Given the description of an element on the screen output the (x, y) to click on. 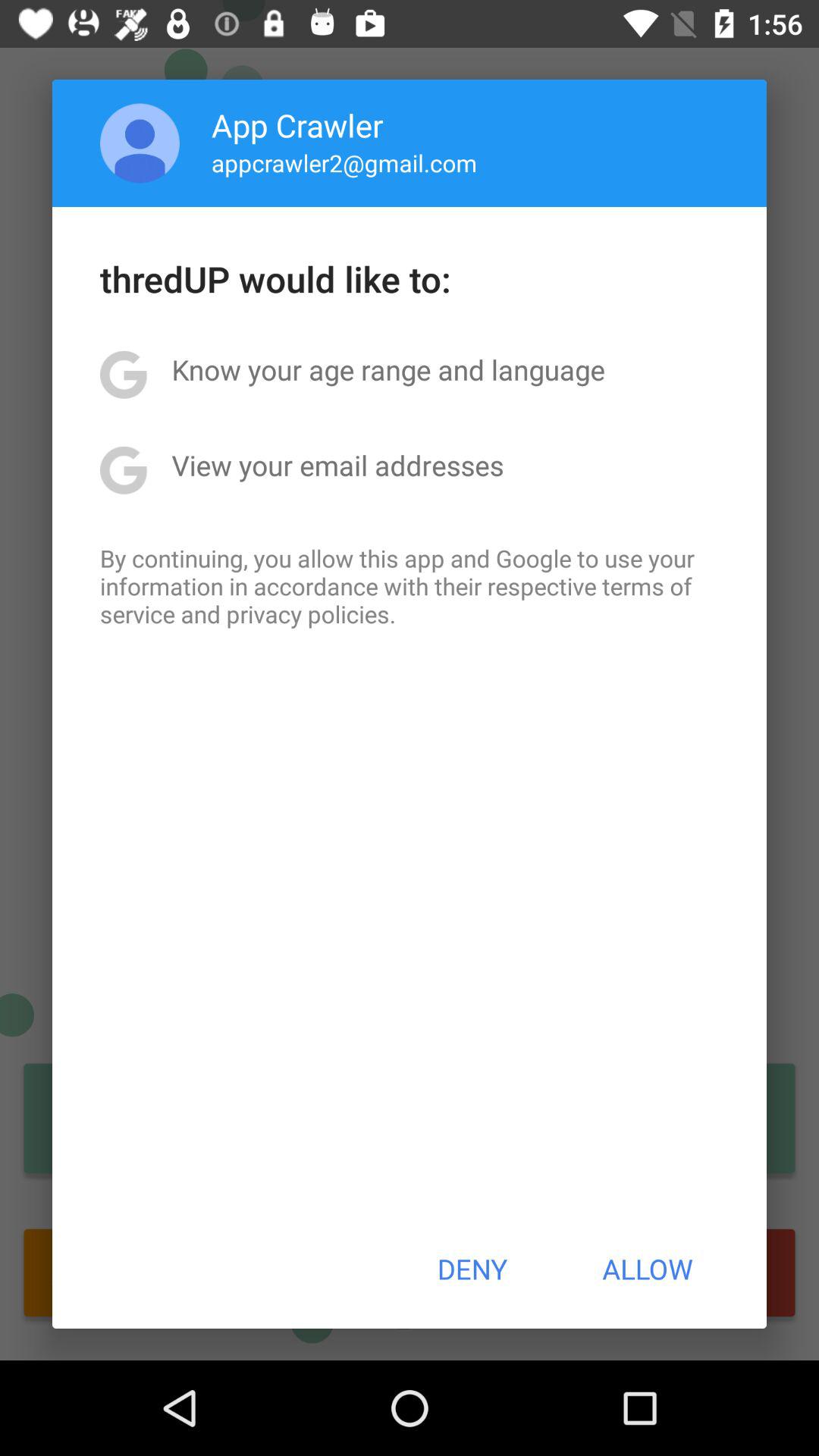
select item below thredup would like item (388, 369)
